Given the description of an element on the screen output the (x, y) to click on. 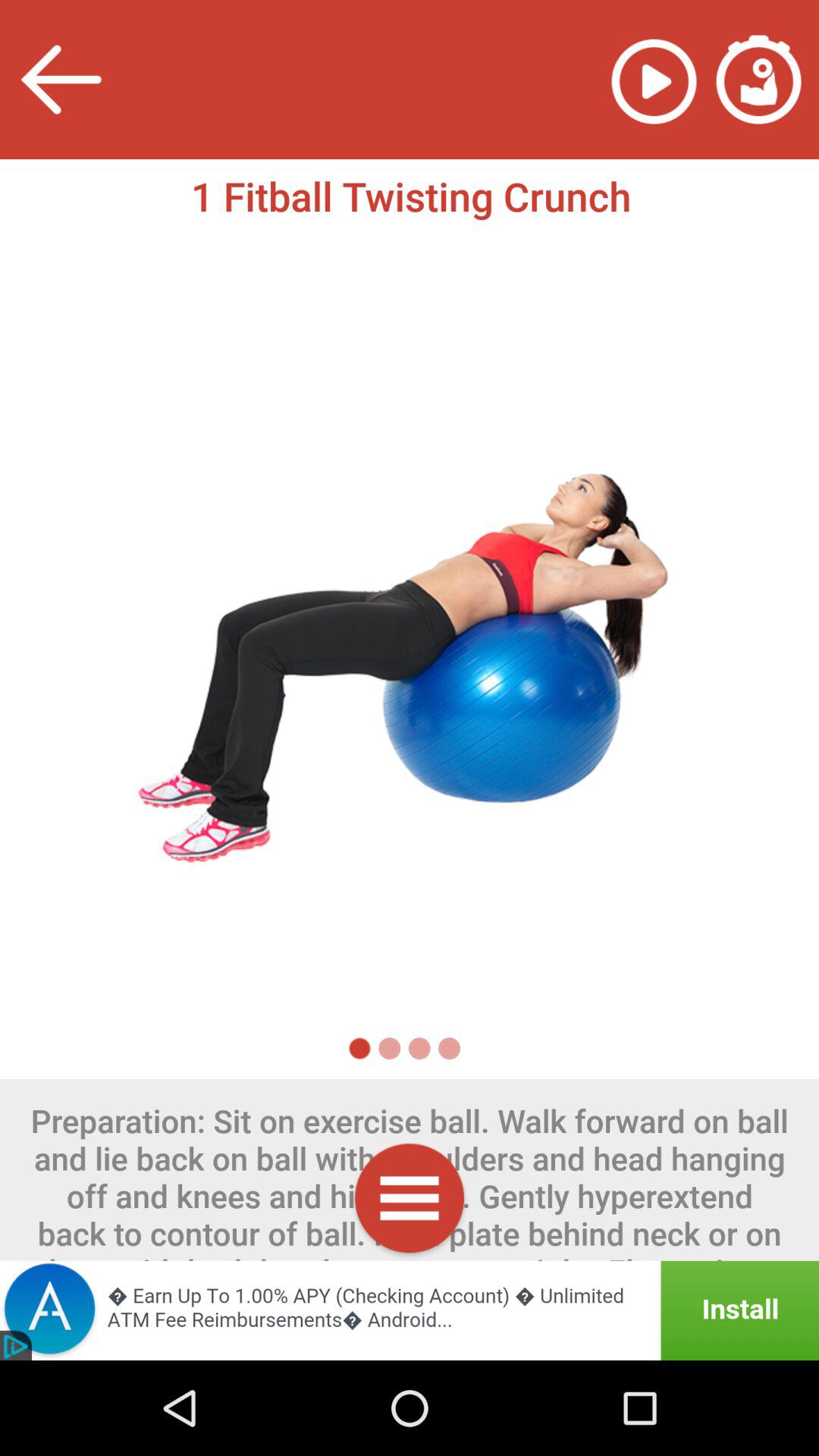
play video (653, 79)
